Given the description of an element on the screen output the (x, y) to click on. 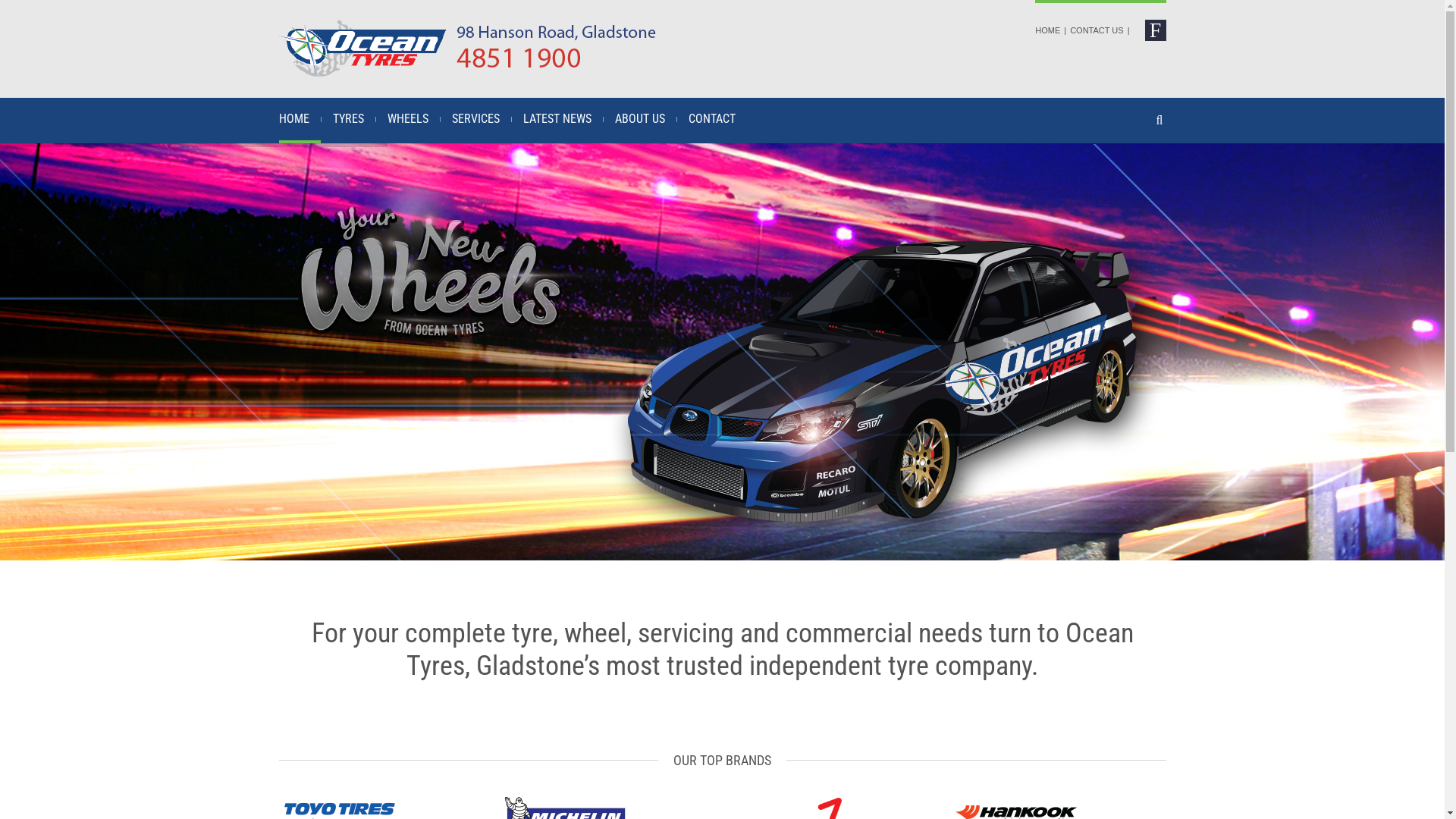
TYRES Element type: text (348, 120)
SERVICES Element type: text (474, 120)
CONTACT Element type: text (711, 120)
WHEELS Element type: text (407, 120)
Ocean Tyres Element type: hover (489, 47)
HOME Element type: text (299, 120)
LATEST NEWS Element type: text (556, 120)
ABOUT US Element type: text (639, 120)
HOME Element type: text (1047, 29)
CONTACT US Element type: text (1096, 29)
